Given the description of an element on the screen output the (x, y) to click on. 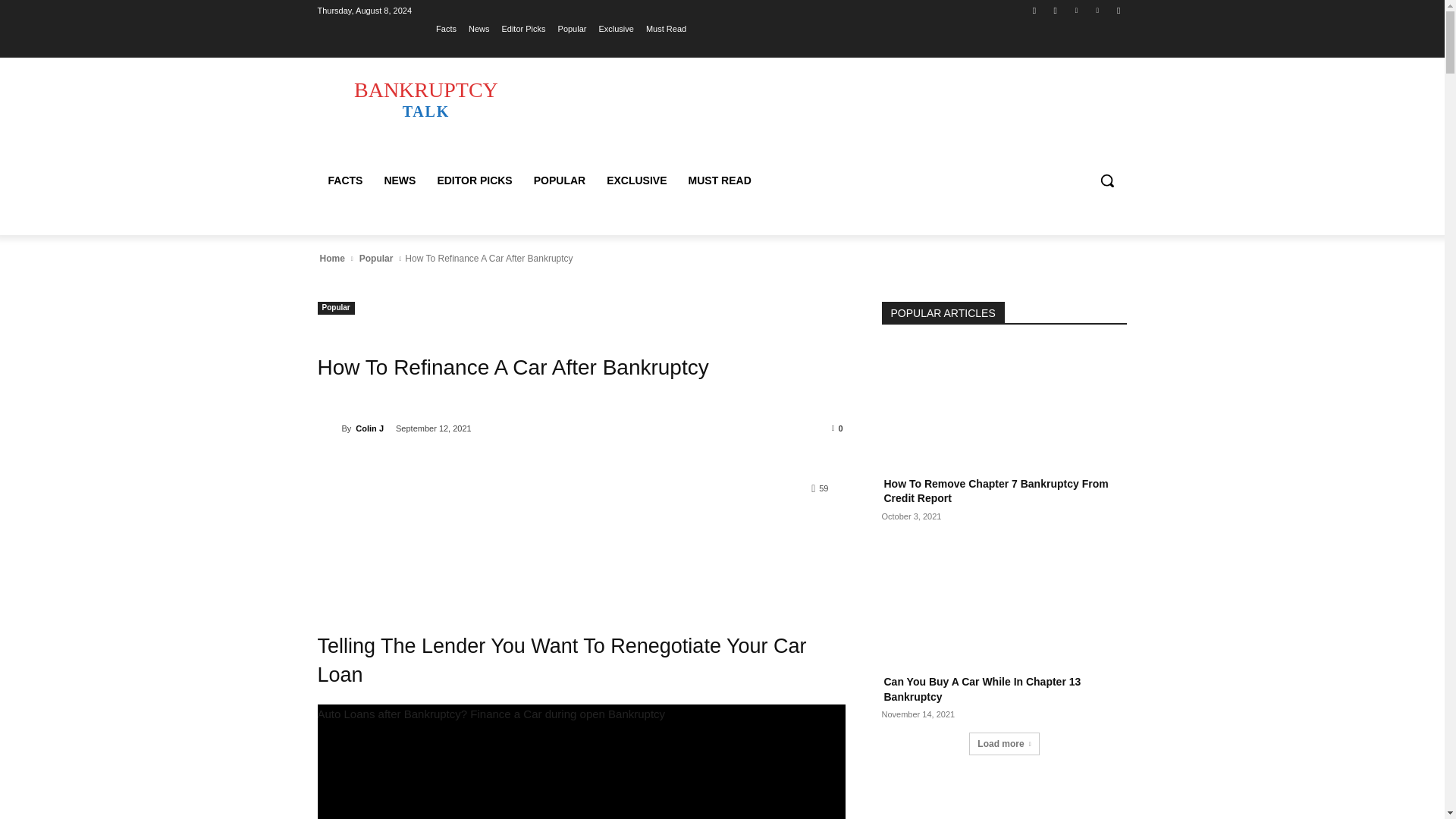
Youtube (1117, 9)
Facts (446, 28)
Must Read (425, 98)
POPULAR (665, 28)
FACTS (558, 180)
Exclusive (344, 180)
EDITOR PICKS (615, 28)
Vimeo (474, 180)
Editor Picks (1097, 9)
